Given the description of an element on the screen output the (x, y) to click on. 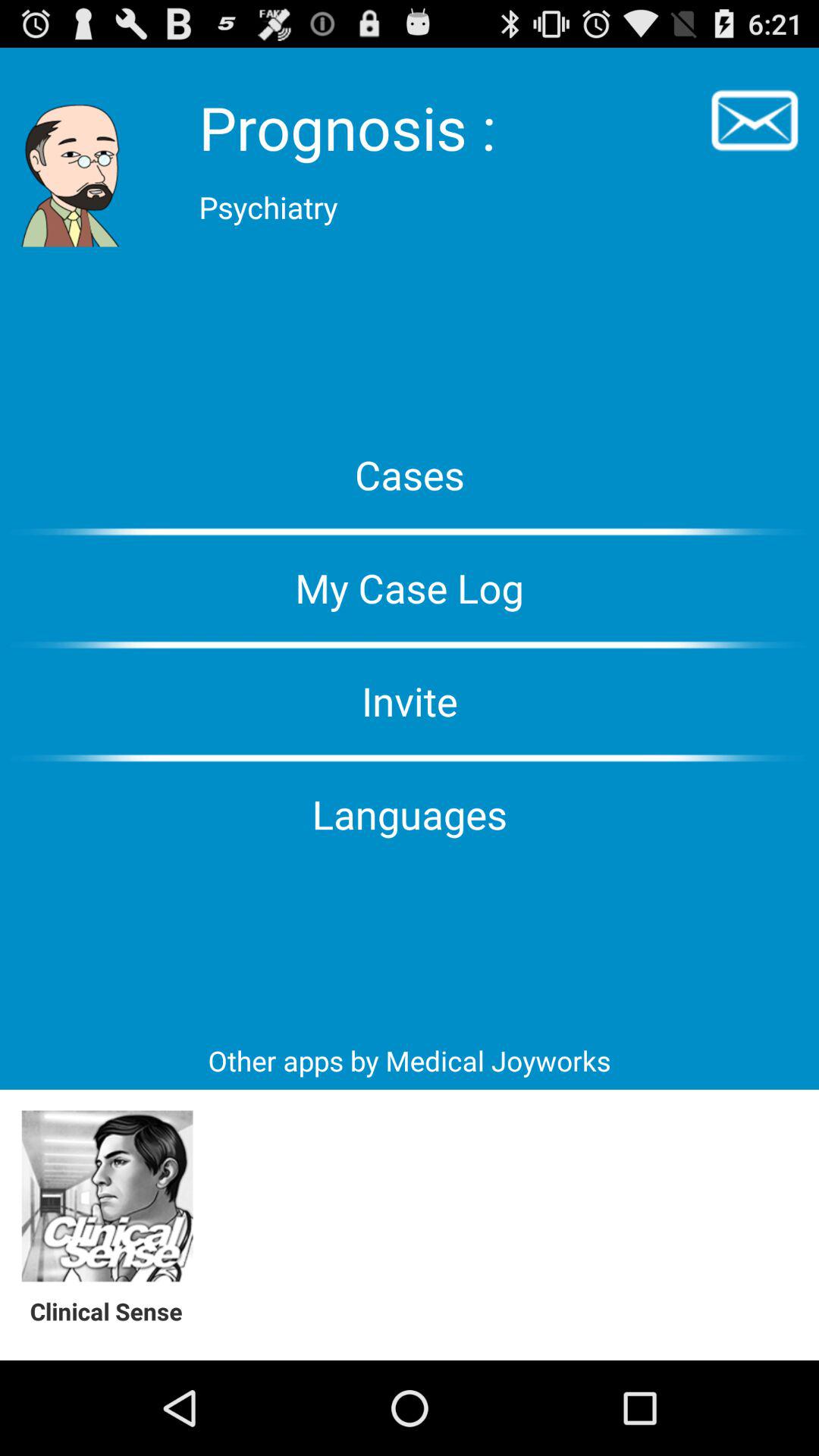
swipe until my case log icon (409, 587)
